Given the description of an element on the screen output the (x, y) to click on. 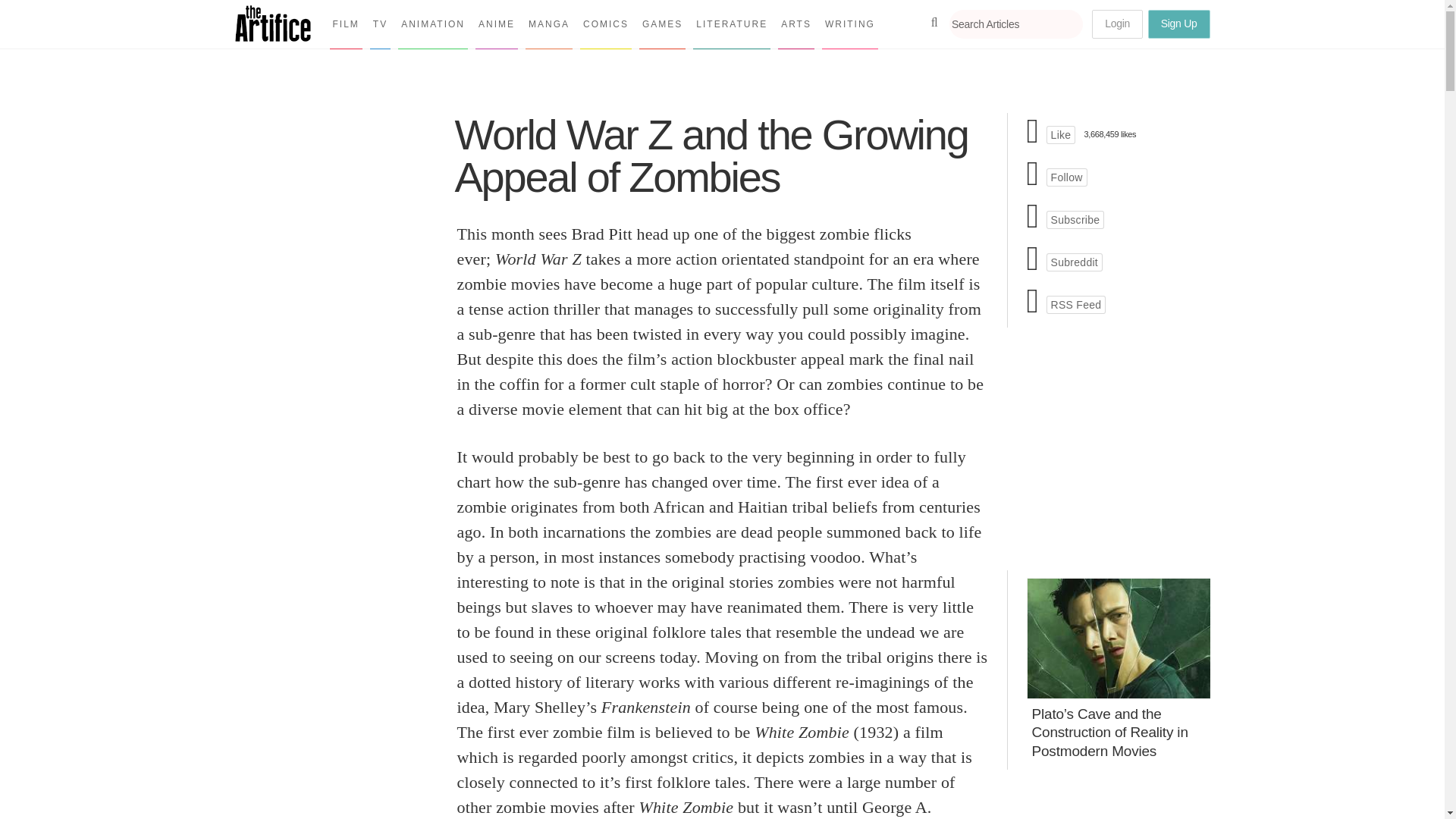
The Artifice (272, 37)
GAMES (662, 24)
ARTS (795, 24)
COMICS (605, 24)
TV (379, 24)
MANGA (548, 24)
FILM (345, 24)
ANIMATION (432, 24)
Sign Up (1178, 23)
WRITING (849, 24)
LITERATURE (731, 24)
Login (1117, 23)
ANIME (497, 24)
